Given the description of an element on the screen output the (x, y) to click on. 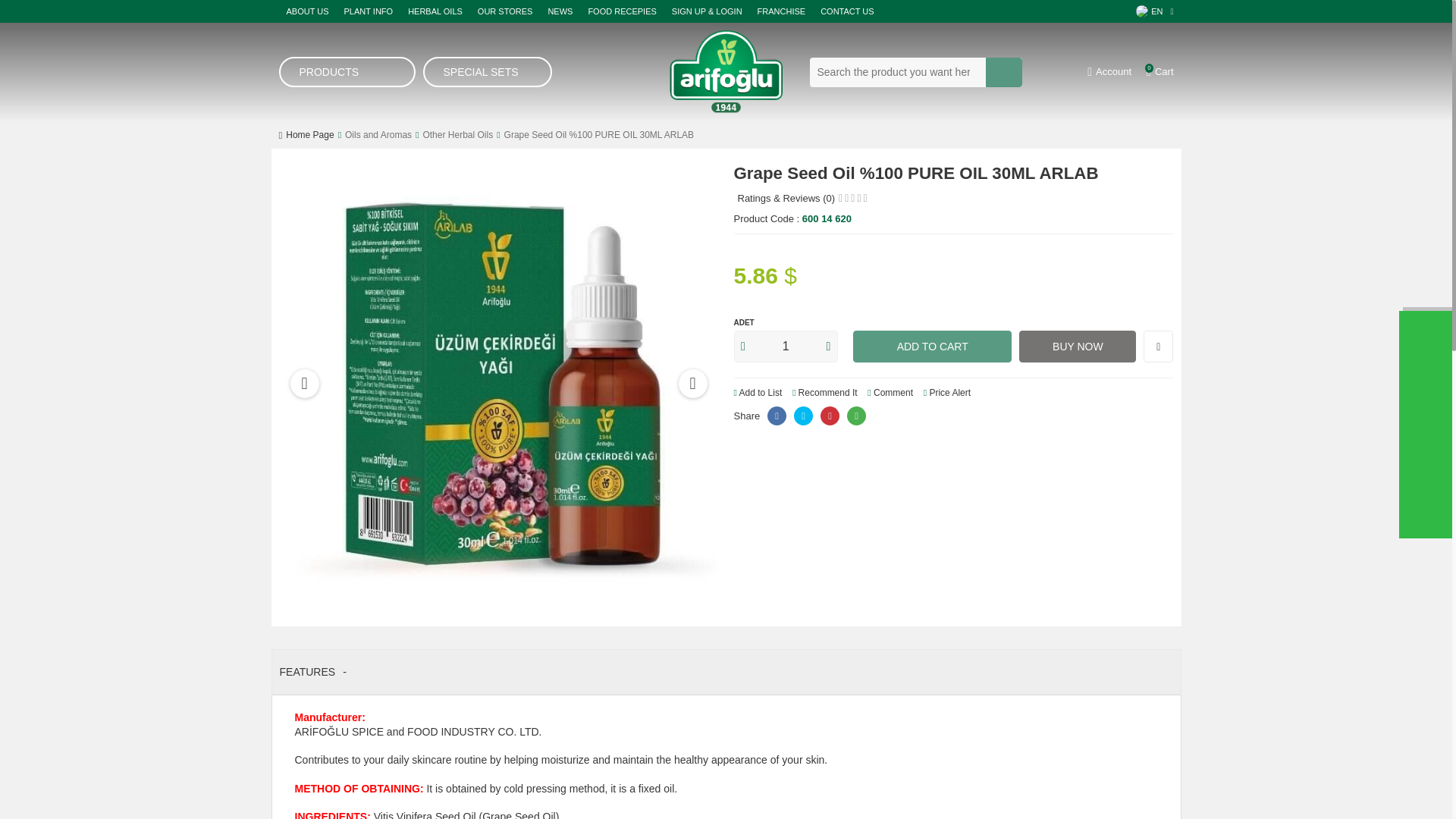
ABOUT US (307, 11)
FRANCHISE (781, 11)
OUR STORES (504, 11)
HERBAL OILS (435, 11)
1 (785, 346)
PLANT INFO (368, 11)
CONTACT US (848, 11)
FOOD RECEPIES (622, 11)
PRODUCTS (346, 71)
NEWS (559, 11)
